Given the description of an element on the screen output the (x, y) to click on. 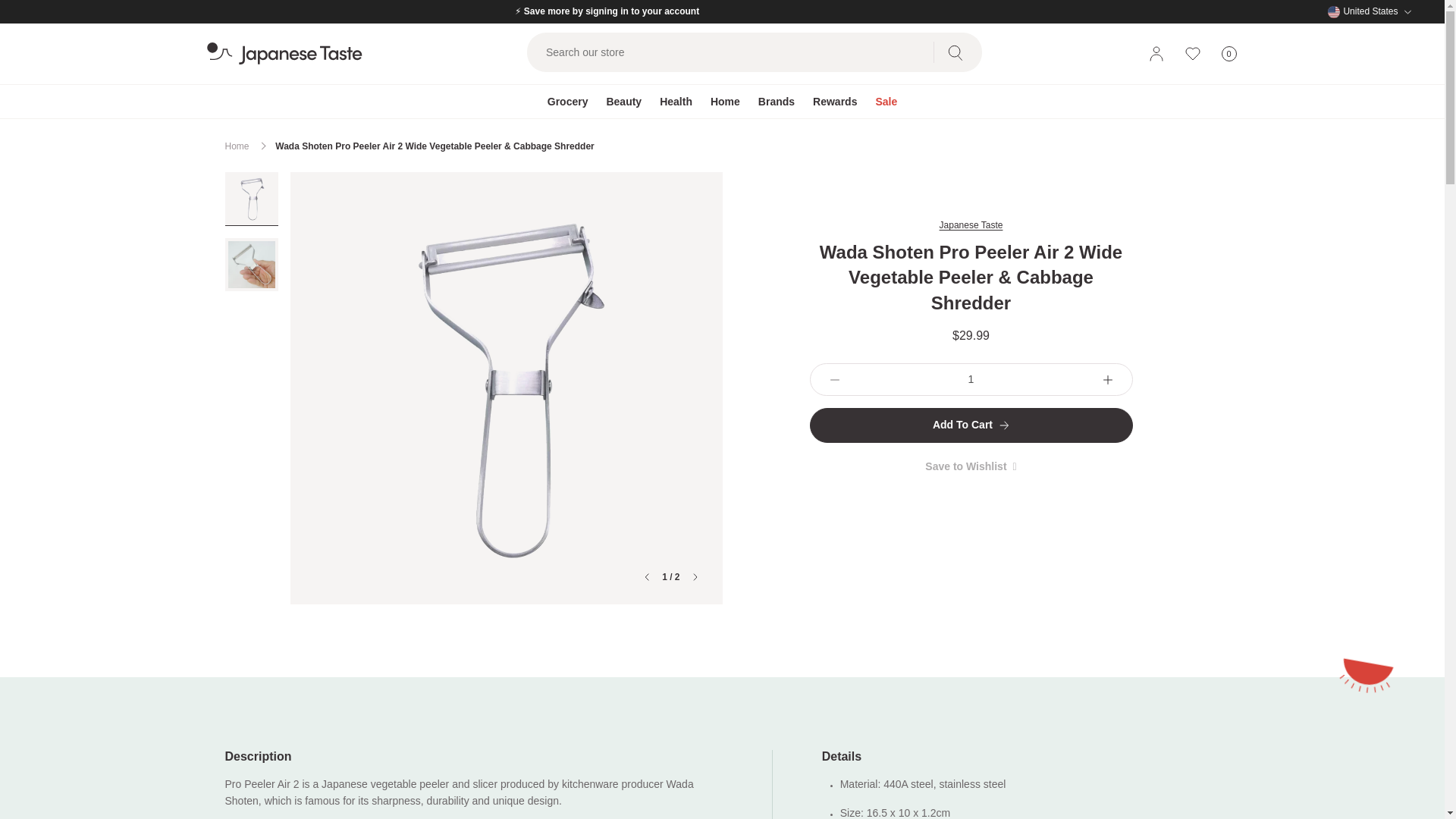
United States (1369, 11)
Grocery (567, 101)
1 (971, 378)
Japanese Taste (1228, 54)
